Given the description of an element on the screen output the (x, y) to click on. 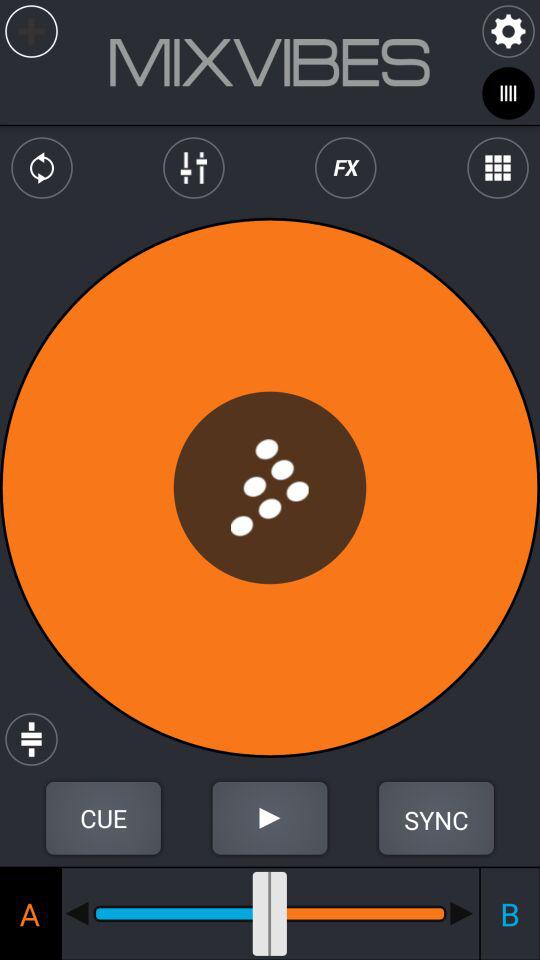
flip until the b icon (509, 913)
